Given the description of an element on the screen output the (x, y) to click on. 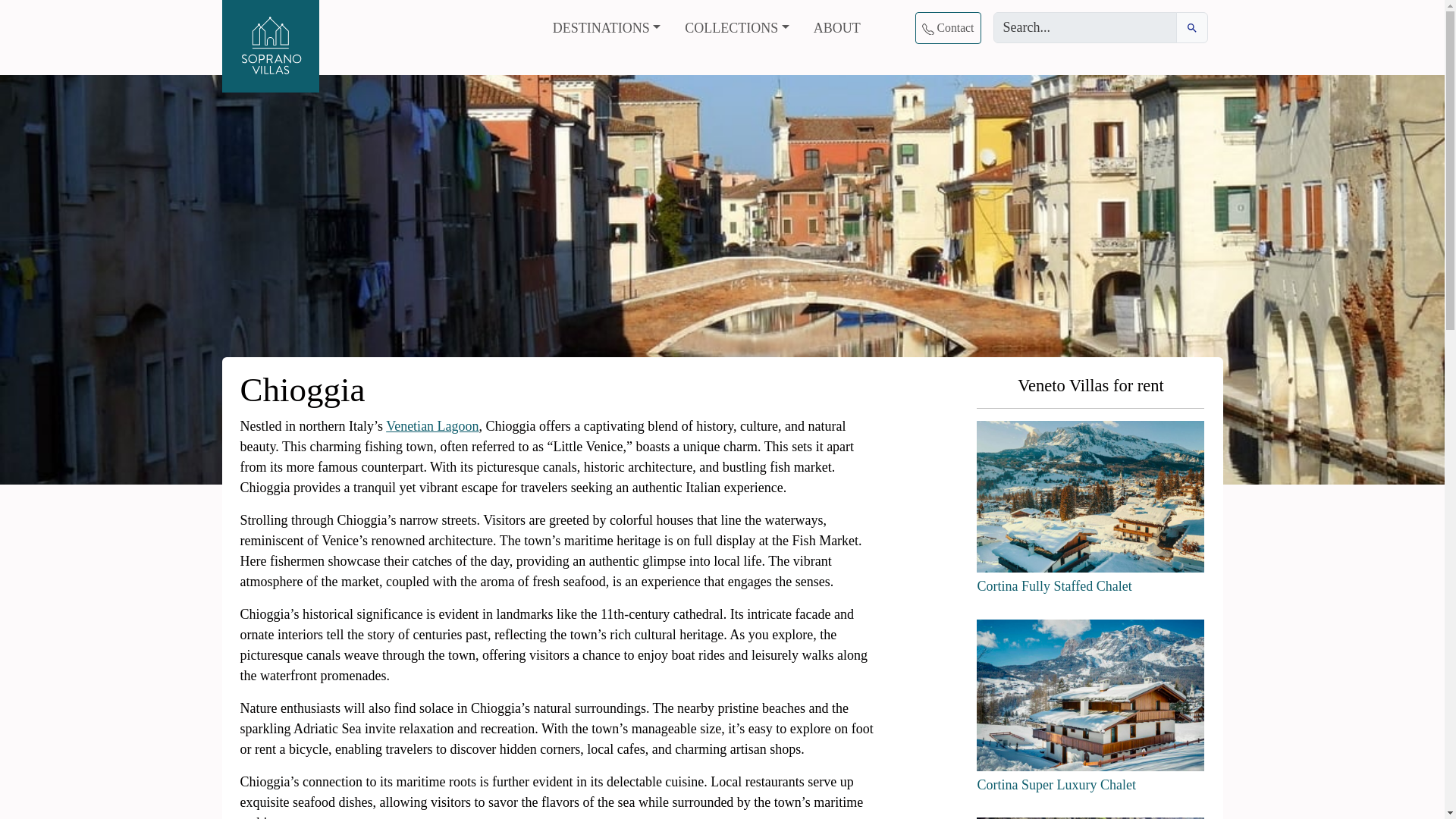
COLLECTIONS (736, 28)
DESTINATIONS (606, 28)
